Given the description of an element on the screen output the (x, y) to click on. 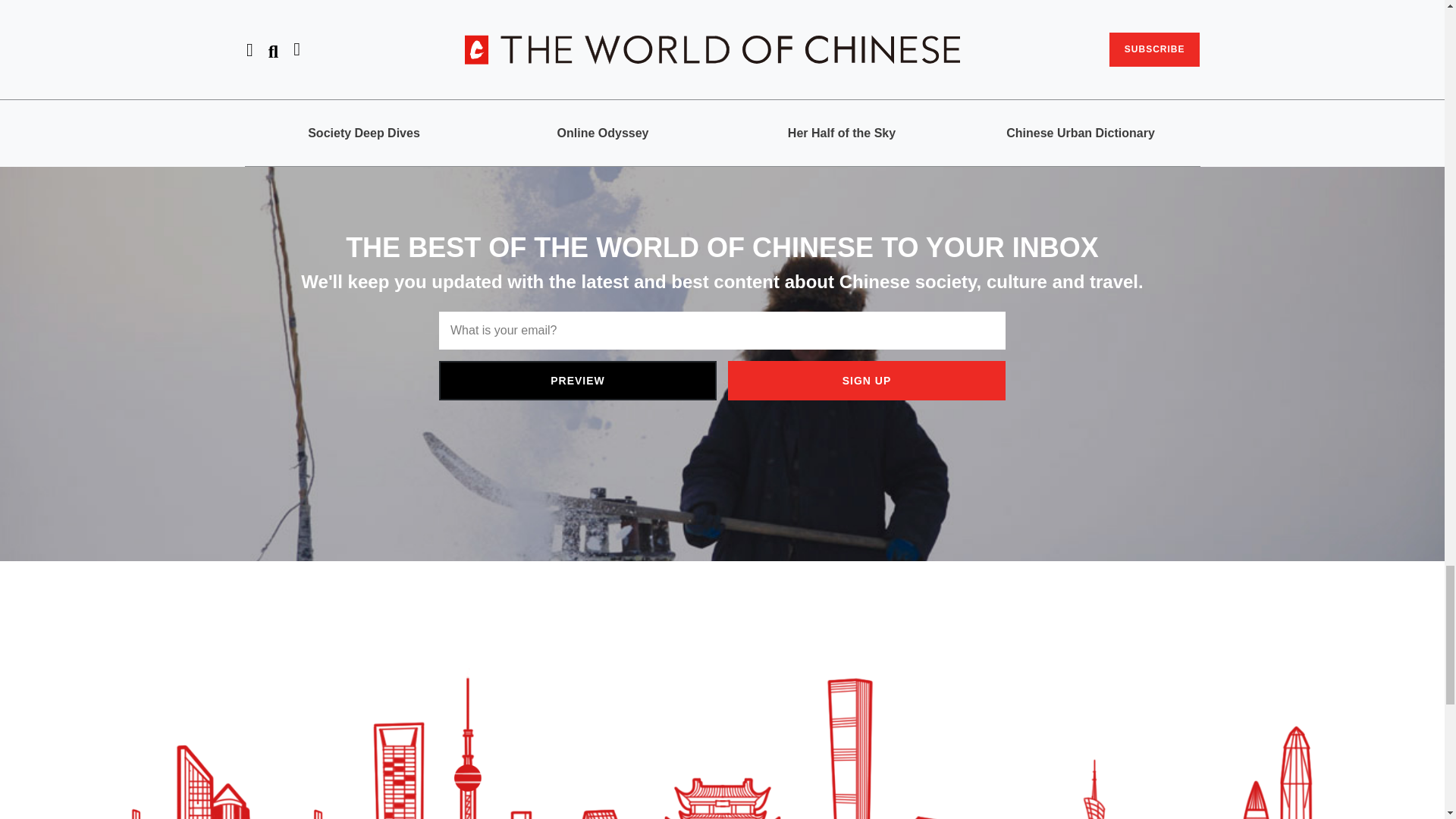
SIGN UP (867, 380)
